Given the description of an element on the screen output the (x, y) to click on. 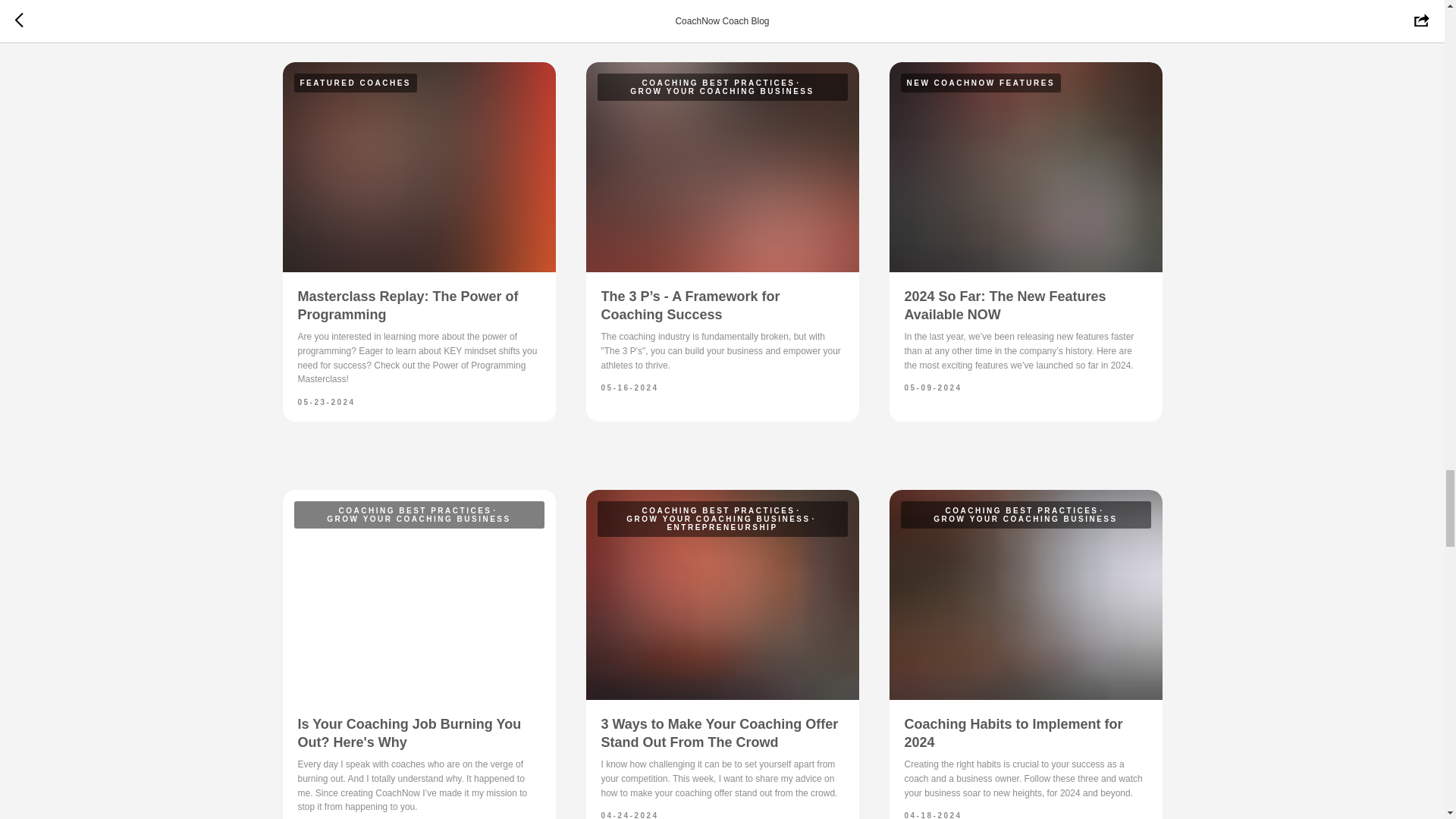
2024 So Far: The New Features Available NOW (1004, 305)
Masterclass Replay: The Power of Programming (407, 305)
Is Your Coaching Job Burning You Out? Here's Why (409, 733)
